Given the description of an element on the screen output the (x, y) to click on. 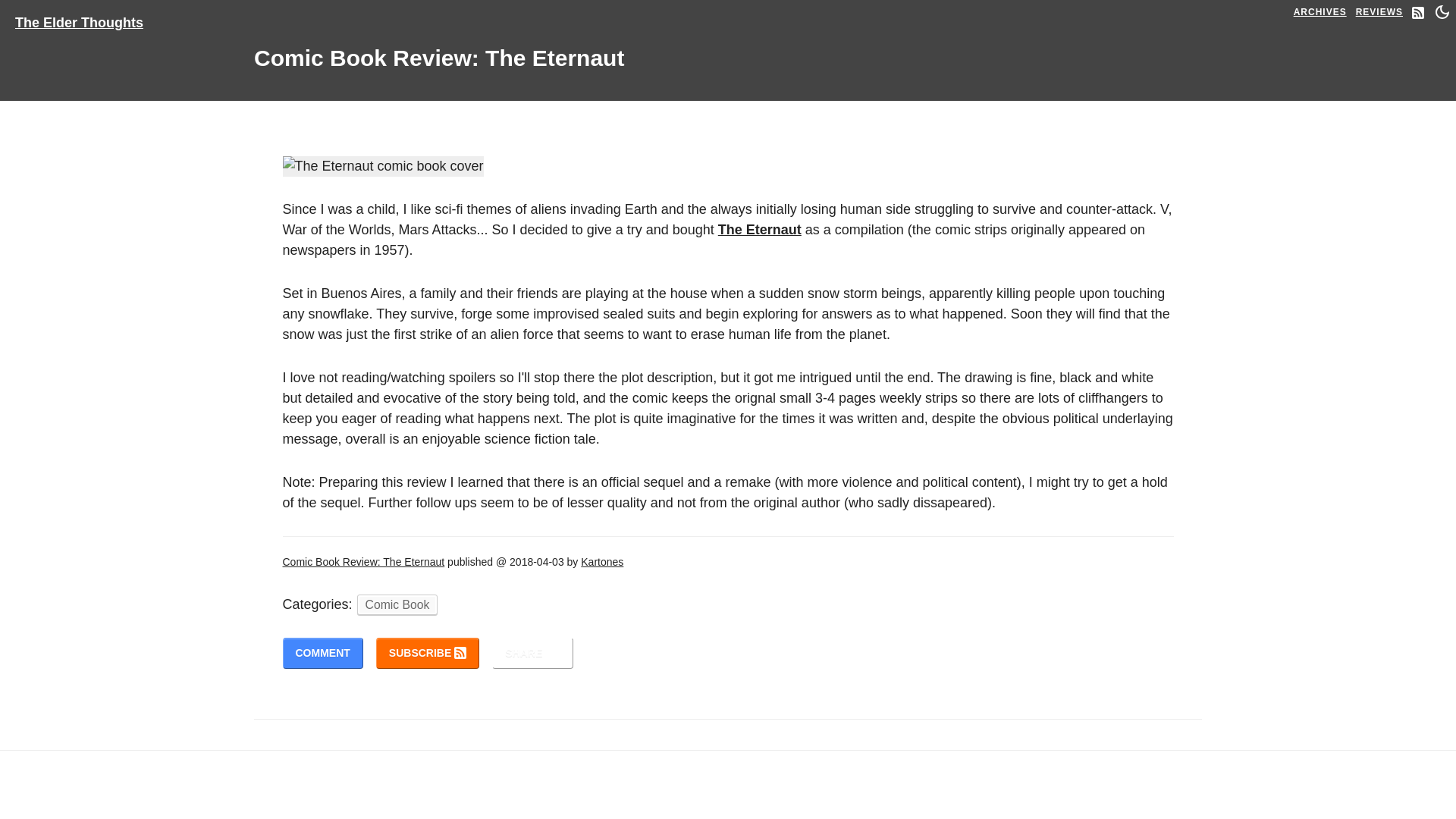
COMMENT (322, 653)
The Elder Thoughts (79, 18)
The Eternaut comic book cover (382, 166)
The Eternaut (759, 229)
Kartones (601, 562)
Comment (322, 653)
SUBSCRIBE (427, 653)
Subscribe to RSS (427, 653)
Share at Twitter (532, 653)
The Elder Thoughts (84, 18)
